Given the description of an element on the screen output the (x, y) to click on. 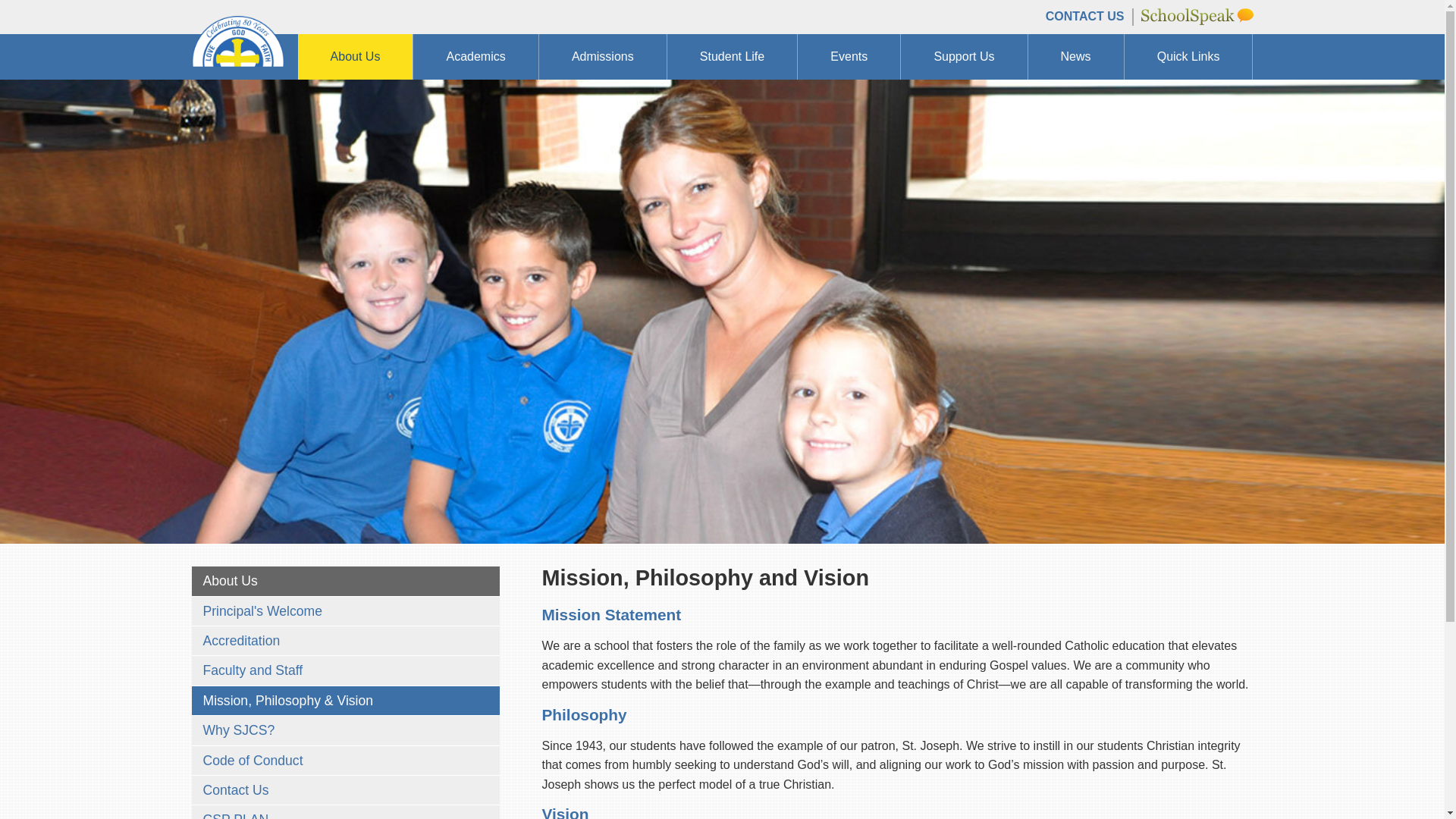
CONTACT US (1084, 15)
St. Joseph Catholic School (236, 61)
About Us (355, 56)
Academics (475, 56)
Events (849, 56)
Support Us (964, 56)
Student Life (731, 56)
Admissions (602, 56)
